Given the description of an element on the screen output the (x, y) to click on. 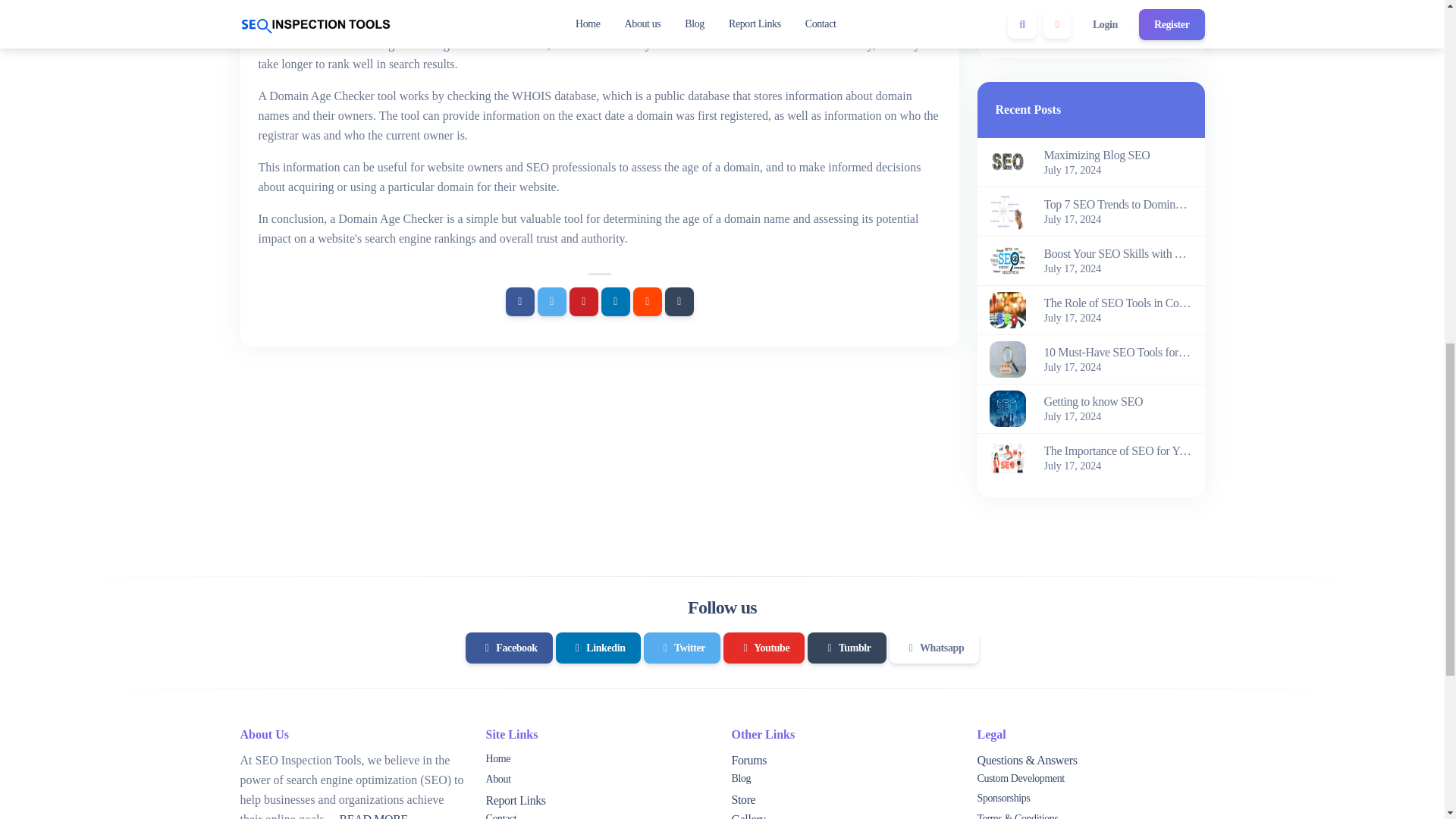
Maximizing Blog SEO (1117, 155)
Google Index Checker (1058, 2)
Keyword Density Checker (1068, 26)
Keyword Density Checker (1068, 26)
Google Index Checker (1058, 2)
Top 7 SEO Trends to Dominate in 2023 (1117, 204)
